Given the description of an element on the screen output the (x, y) to click on. 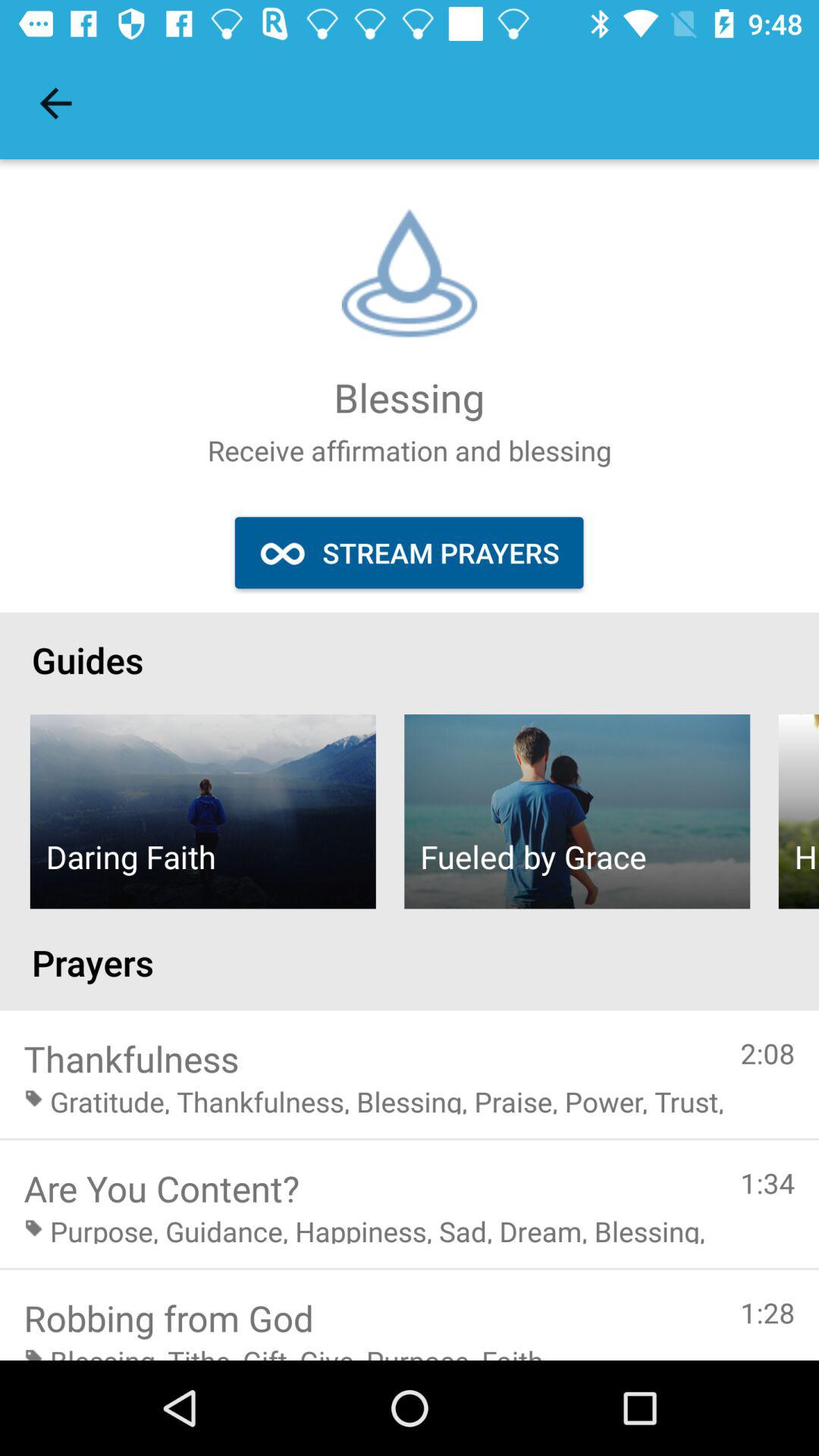
select the item at the top left corner (55, 103)
